Given the description of an element on the screen output the (x, y) to click on. 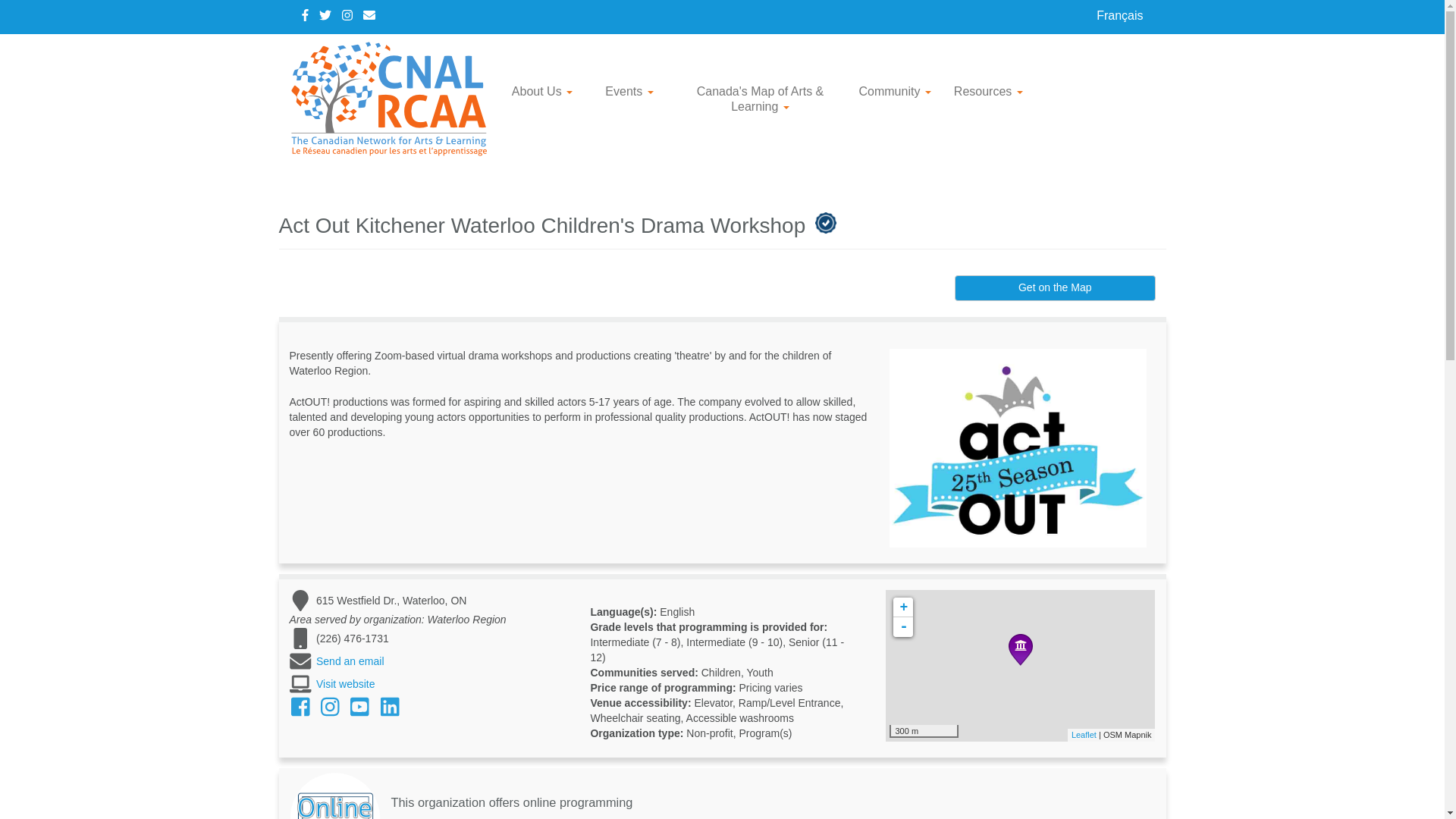
Twitter (324, 15)
Community (894, 91)
Contact Us (368, 15)
About Us (542, 91)
Contact Us (368, 15)
Events (628, 91)
Home (393, 98)
Twitter (324, 15)
